Given the description of an element on the screen output the (x, y) to click on. 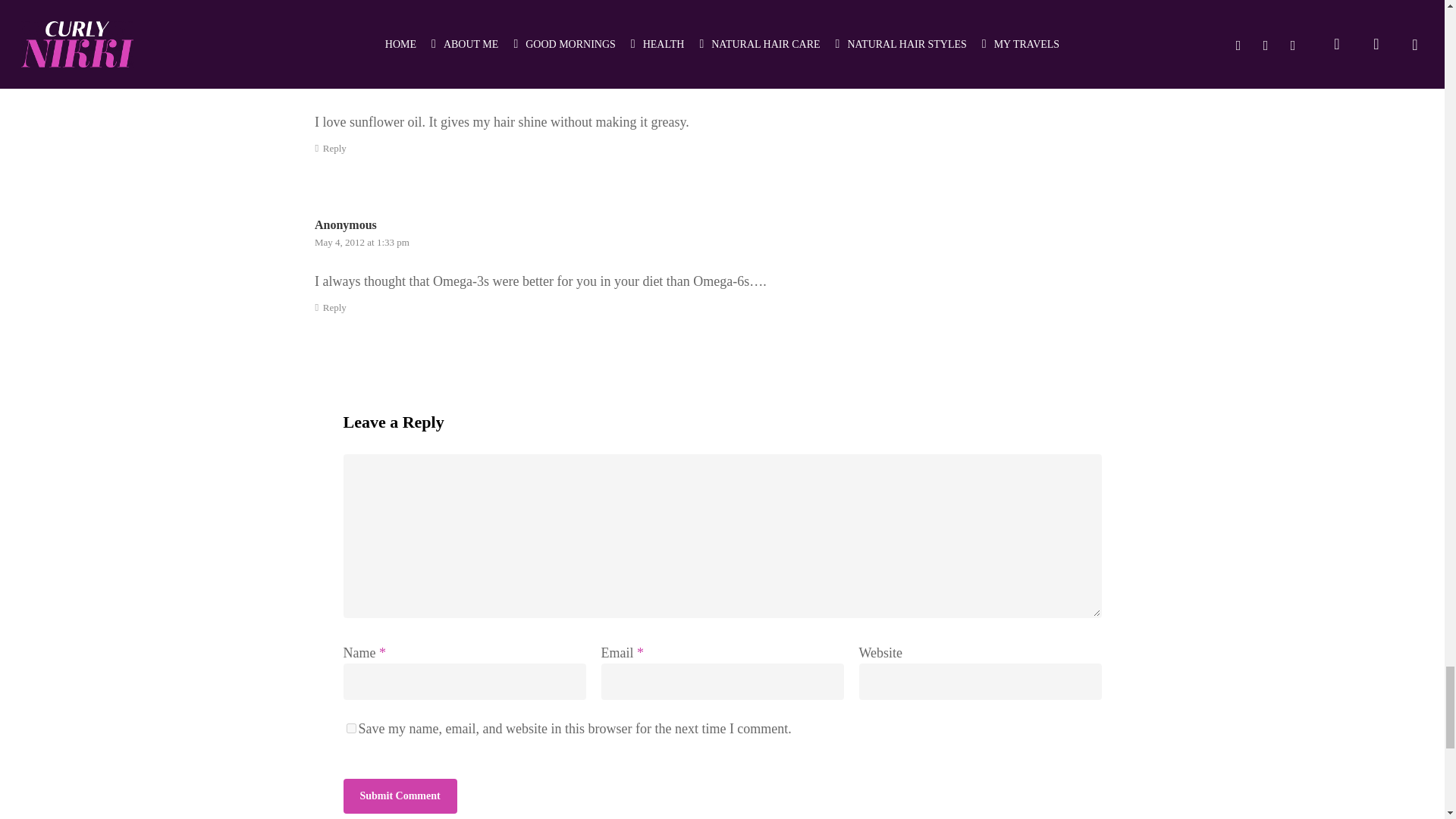
yes (350, 728)
Submit Comment (399, 796)
